Given the description of an element on the screen output the (x, y) to click on. 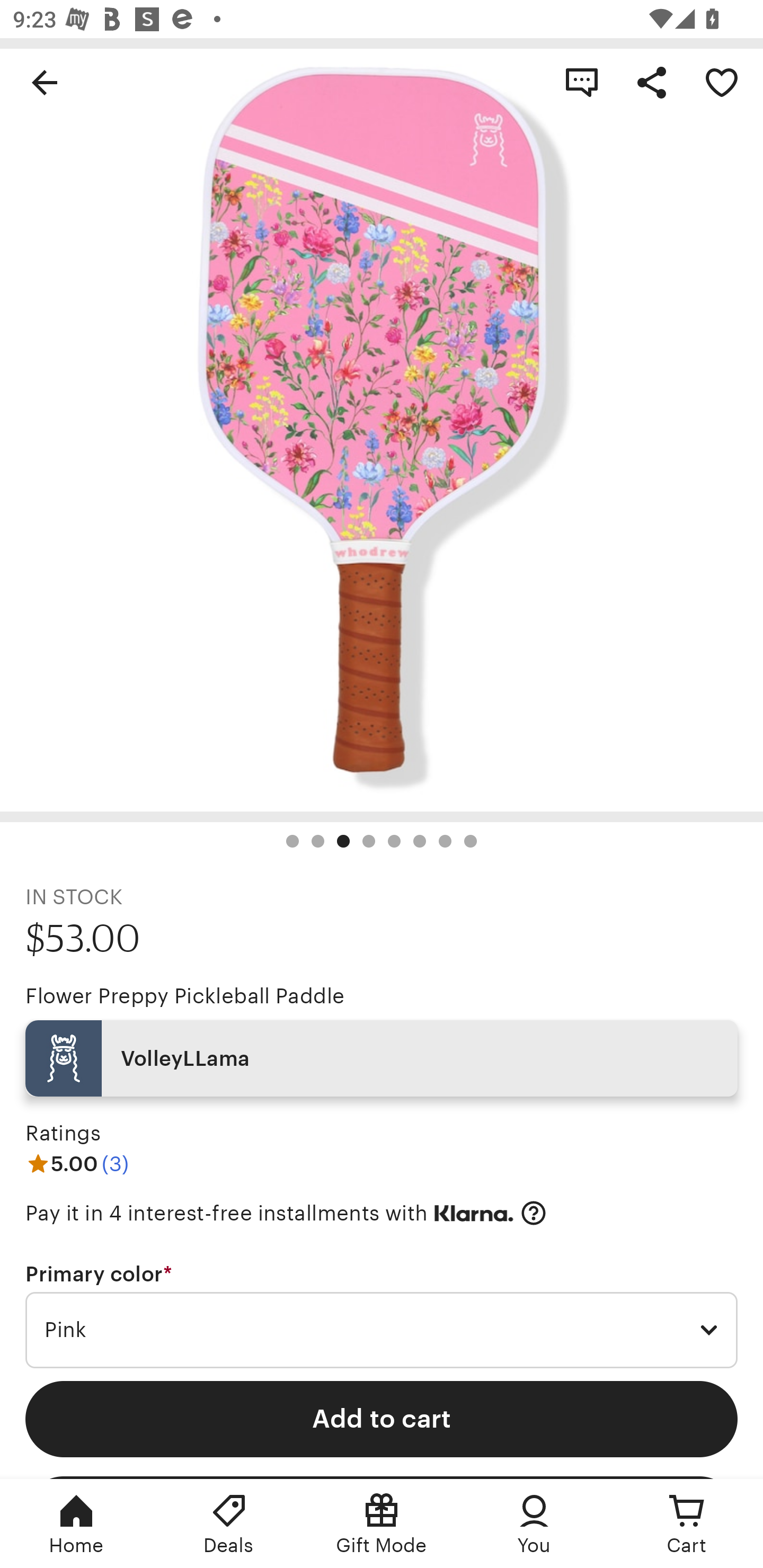
Navigate up (44, 81)
Contact shop (581, 81)
Share (651, 81)
Flower Preppy Pickleball Paddle (184, 996)
VolleyLLama (381, 1058)
Ratings (62, 1133)
5.00 (3) (76, 1163)
Primary color * Required Pink (381, 1315)
Pink (381, 1330)
Add to cart (381, 1418)
Deals (228, 1523)
Gift Mode (381, 1523)
You (533, 1523)
Cart (686, 1523)
